Given the description of an element on the screen output the (x, y) to click on. 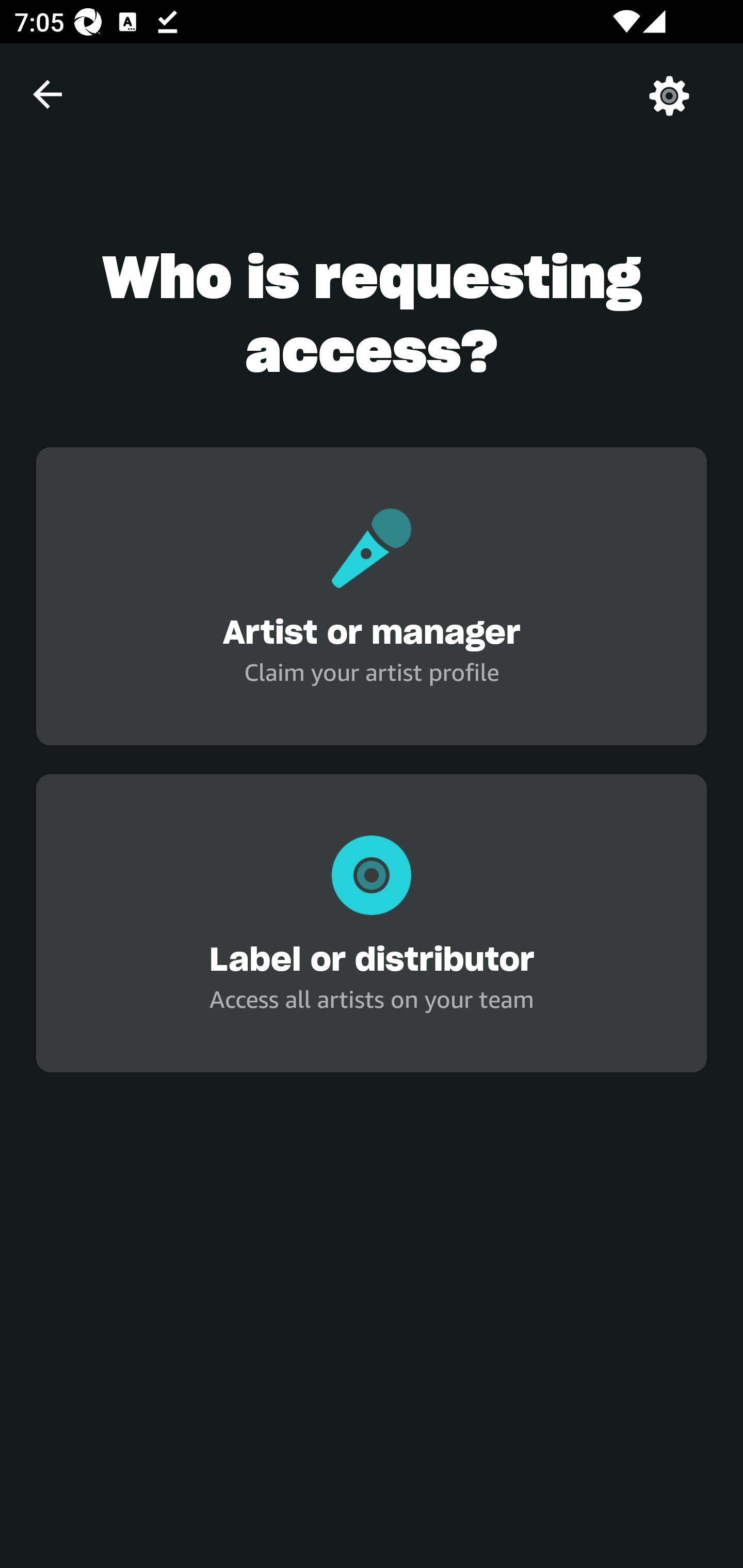
ArtistSelect, back (47, 93)
